Given the description of an element on the screen output the (x, y) to click on. 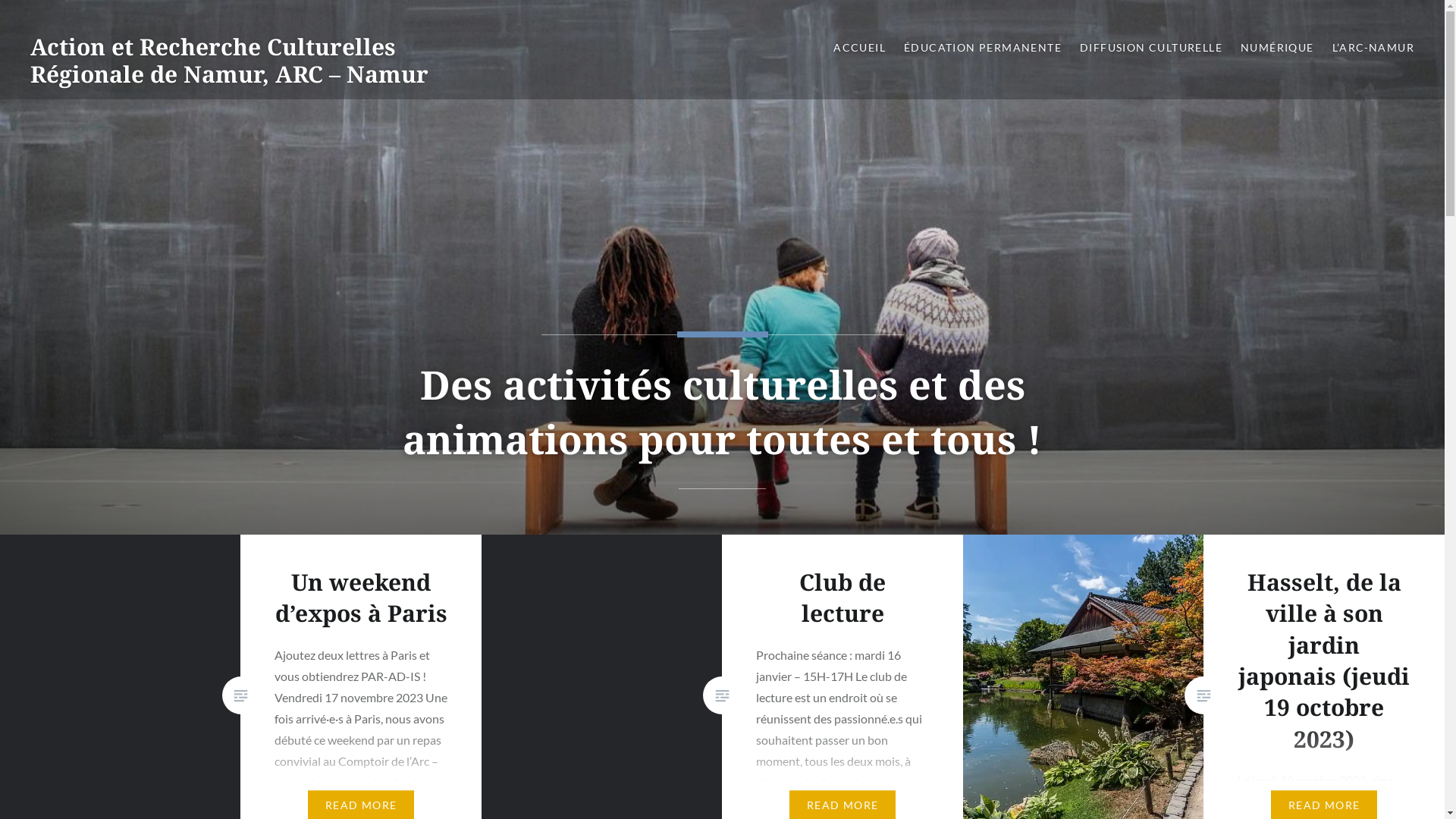
ACCUEIL Element type: text (859, 47)
Club de lecture Element type: text (842, 597)
DIFFUSION CULTURELLE Element type: text (1150, 47)
